Given the description of an element on the screen output the (x, y) to click on. 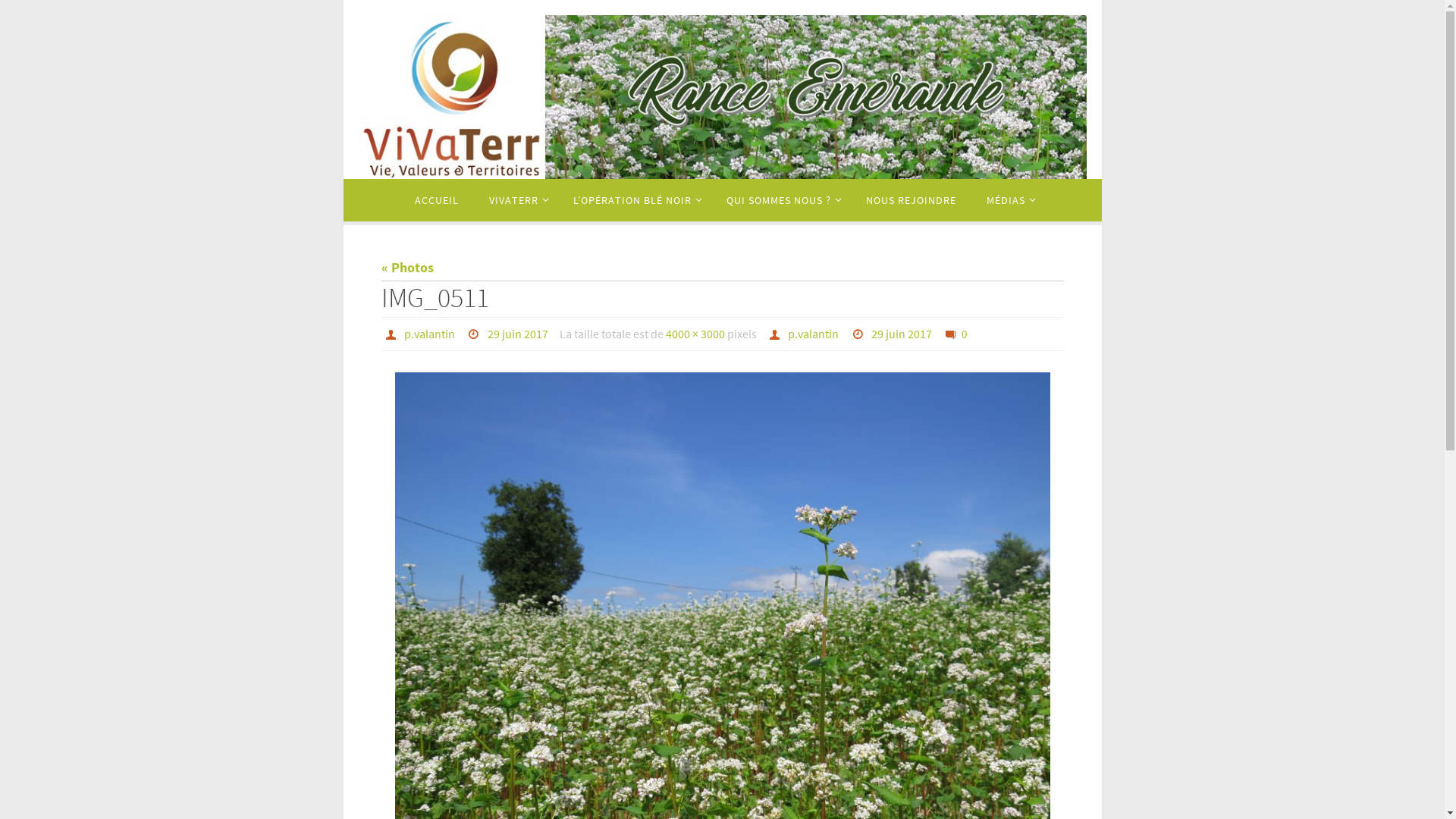
Auteur Element type: hover (777, 333)
QUI SOMMES NOUS ? Element type: text (780, 199)
29 juin 2017 Element type: text (901, 334)
0 Element type: text (954, 334)
ViVaTerr Rance-Emeraude Element type: hover (721, 96)
29 juin 2017 Element type: text (517, 334)
VIVATERR Element type: text (515, 199)
Auteur Element type: hover (392, 333)
Passer vers le contenu Element type: text (342, 216)
ACCUEIL Element type: text (436, 199)
p.valantin Element type: text (429, 334)
NOUS REJOINDRE Element type: text (910, 199)
Date Element type: hover (475, 333)
p.valantin Element type: text (812, 334)
Leave a comment Element type: hover (952, 333)
Date Element type: hover (859, 333)
